Given the description of an element on the screen output the (x, y) to click on. 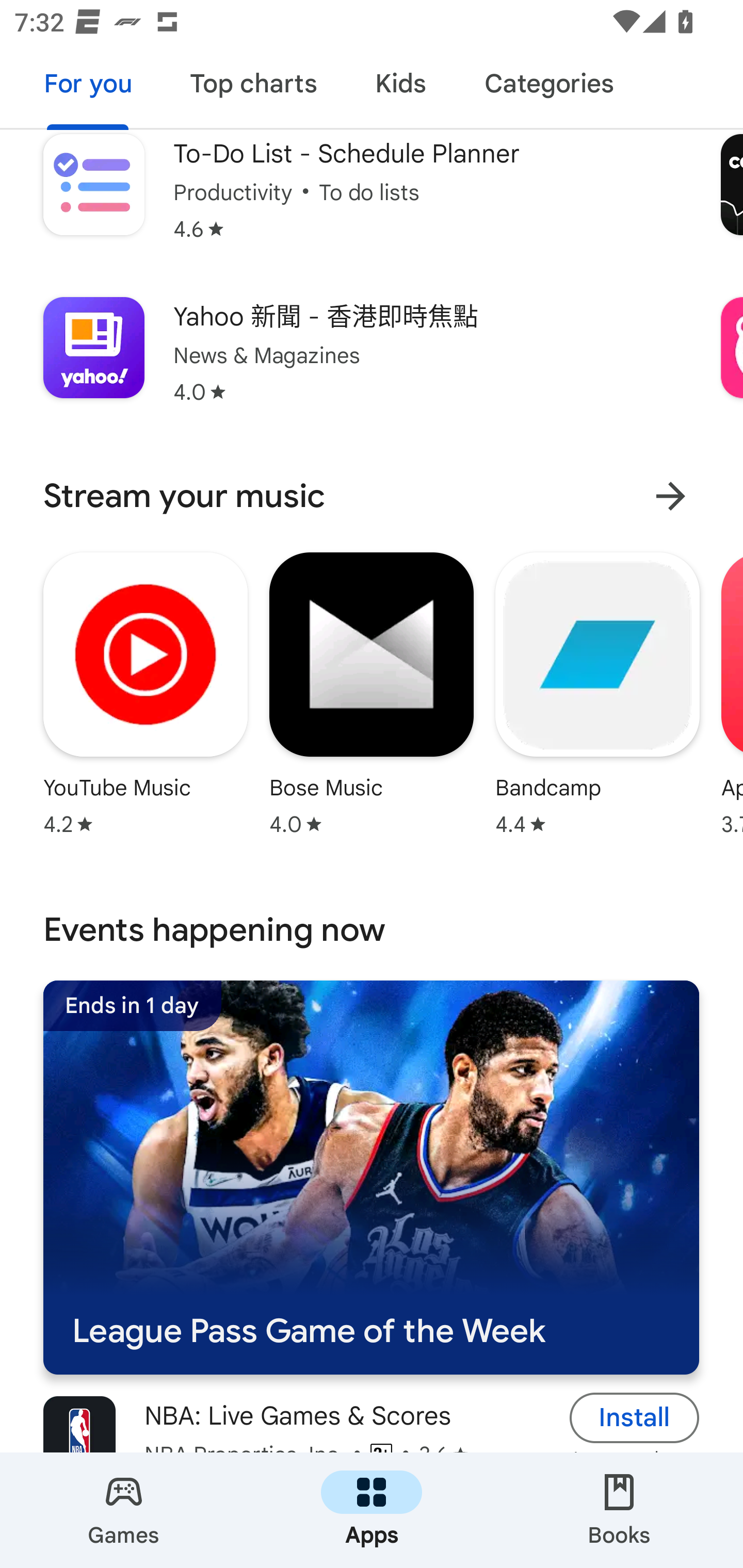
Top charts (253, 86)
Kids (400, 86)
Categories (548, 86)
More results for Stream your music (670, 496)
YouTube Music
Star rating: 4.2
 (145, 693)
Bose Music
Star rating: 4.0
 (371, 693)
Bandcamp
Star rating: 4.4
 (597, 693)
League Pass Game of the Week Ends in 1 day (371, 1177)
Install (634, 1413)
Games (123, 1509)
Books (619, 1509)
